Given the description of an element on the screen output the (x, y) to click on. 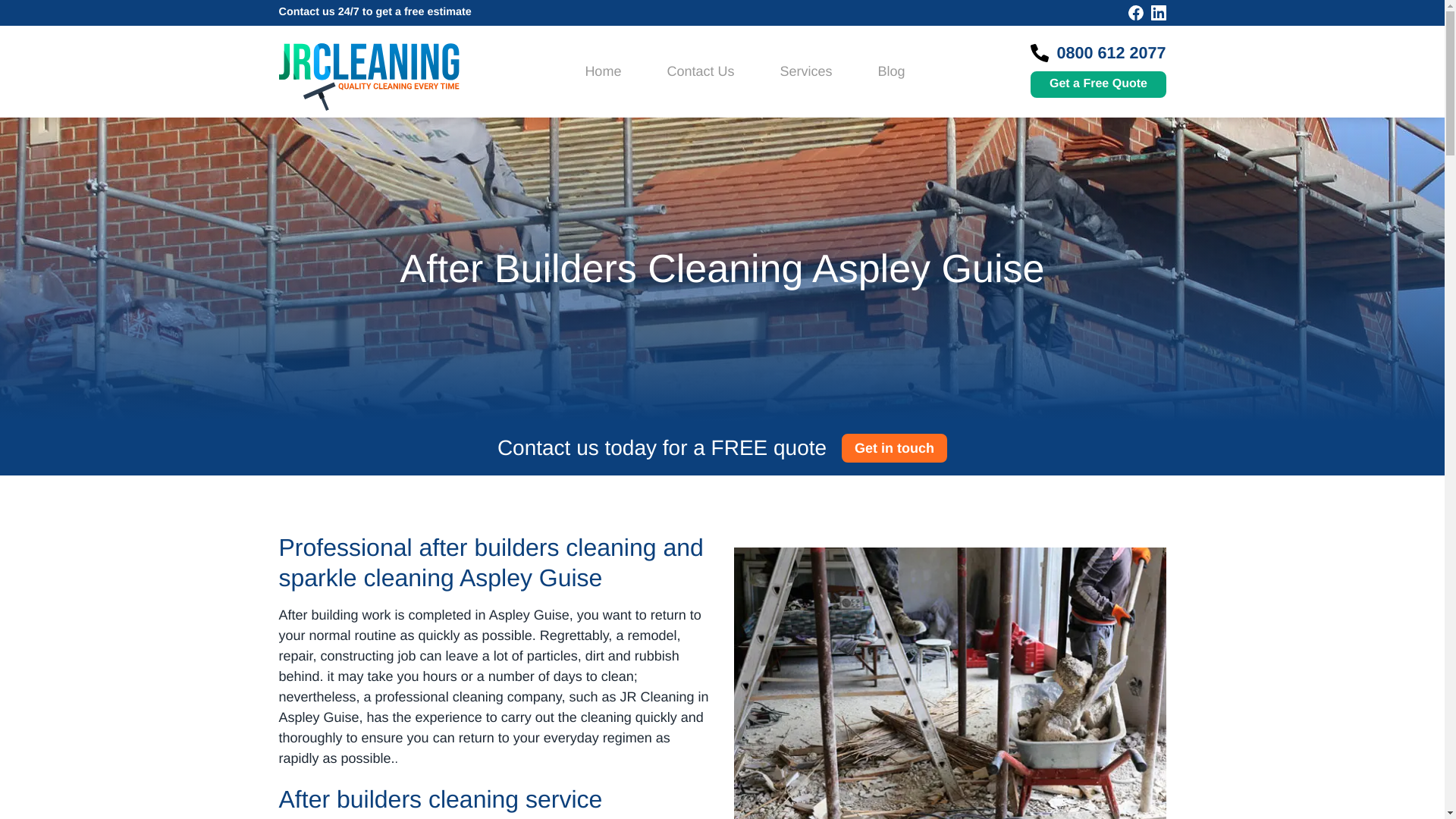
Contact Us (699, 71)
Get in touch (894, 448)
Services (804, 71)
Home (603, 71)
Blog (890, 71)
J R Cleaning (369, 77)
Get a Free Quote (1098, 84)
0800 612 2077 (1111, 52)
Builders at work (949, 683)
